Given the description of an element on the screen output the (x, y) to click on. 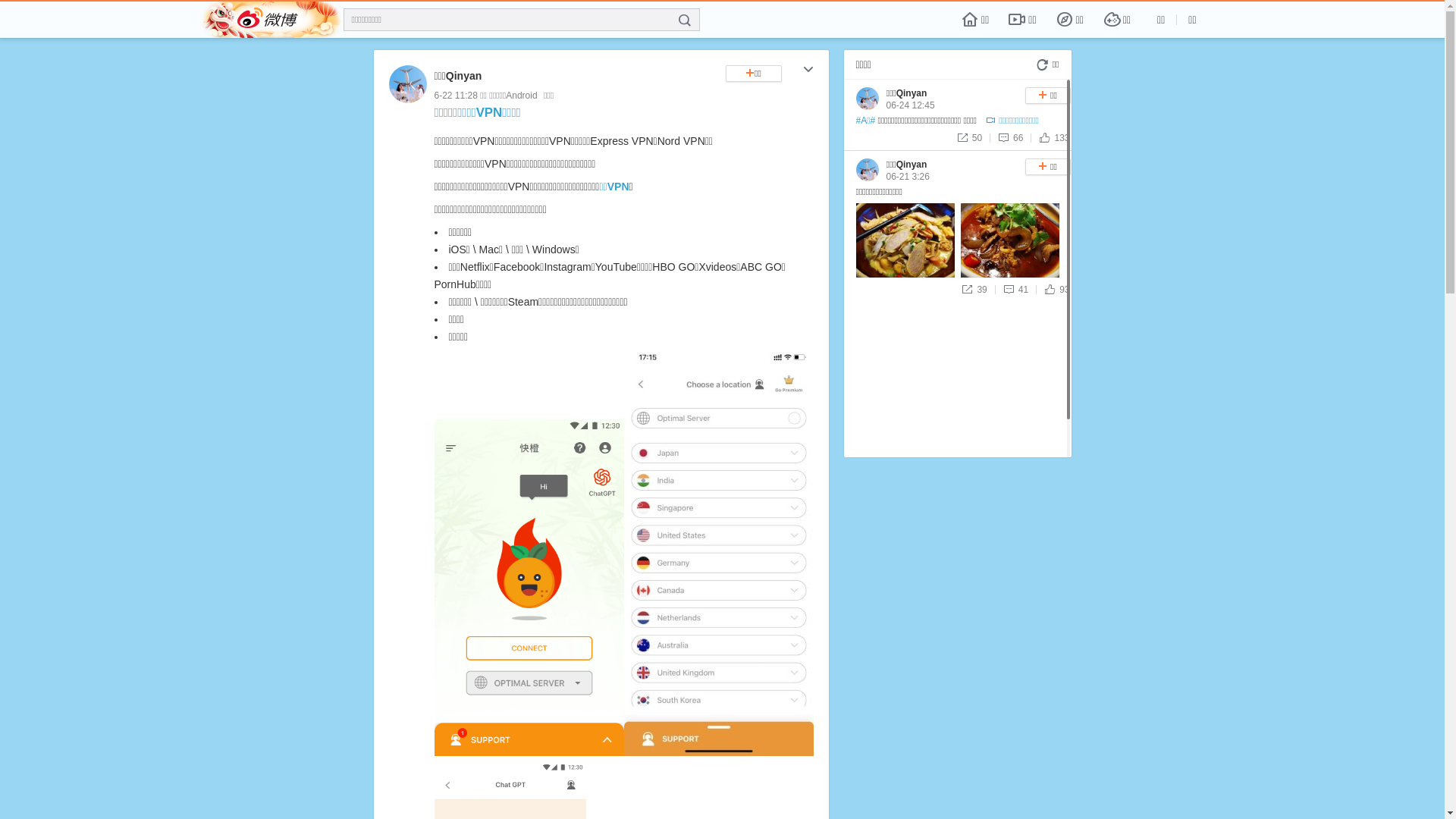
6-22 11:28 Element type: text (454, 95)
c Element type: text (808, 70)
06-21 3:26 Element type: text (906, 176)
f Element type: text (684, 20)
06-24 12:45 Element type: text (909, 105)
